Given the description of an element on the screen output the (x, y) to click on. 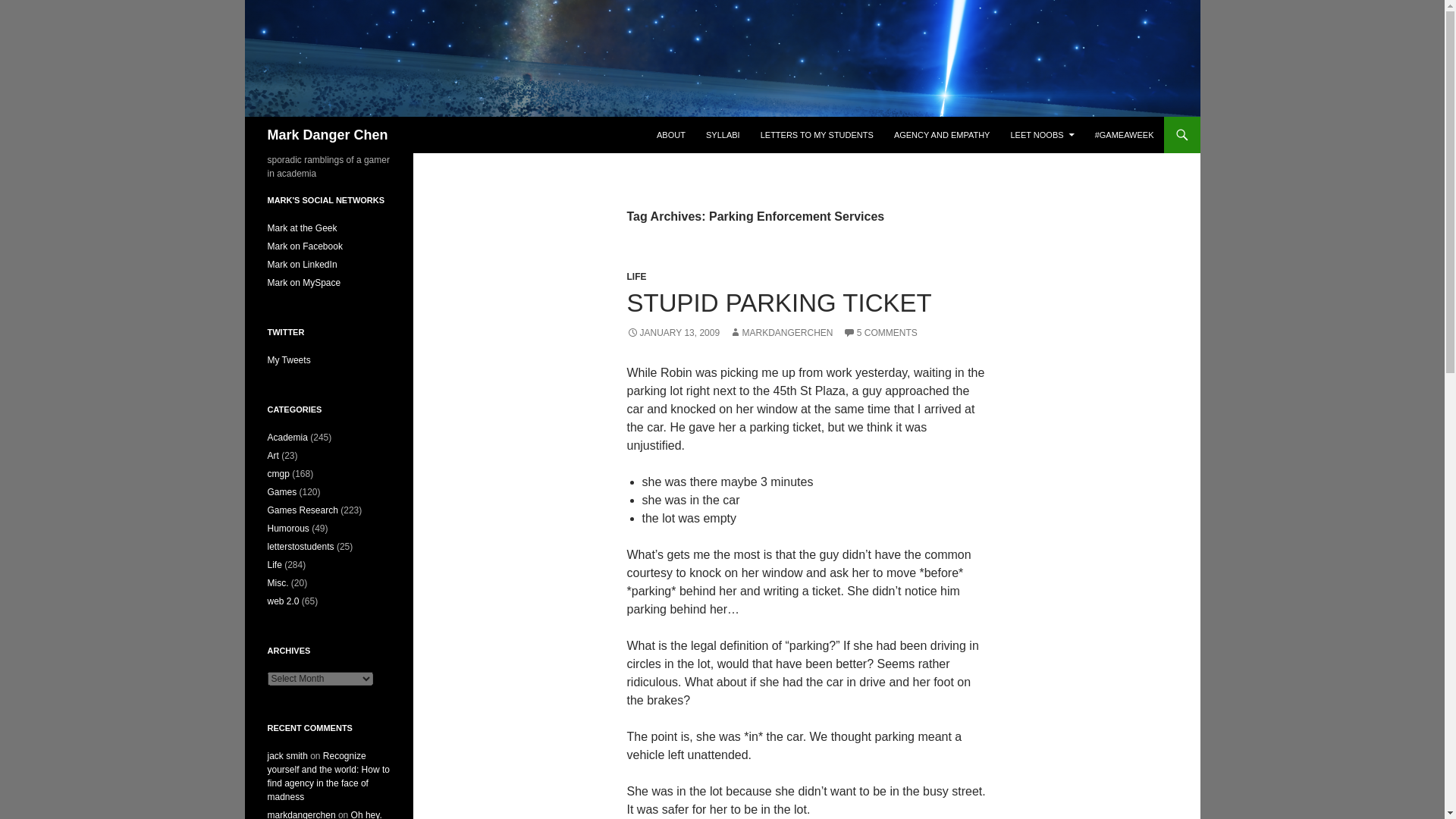
old school, yo! (303, 282)
Academia (286, 437)
ABOUT (670, 135)
STUPID PARKING TICKET (778, 302)
JANUARY 13, 2009 (672, 332)
Mark on LinkedIn (301, 264)
Mark on Facebook (304, 245)
Art (272, 455)
SYLLABI (723, 135)
Mark on MySpace (303, 282)
